Given the description of an element on the screen output the (x, y) to click on. 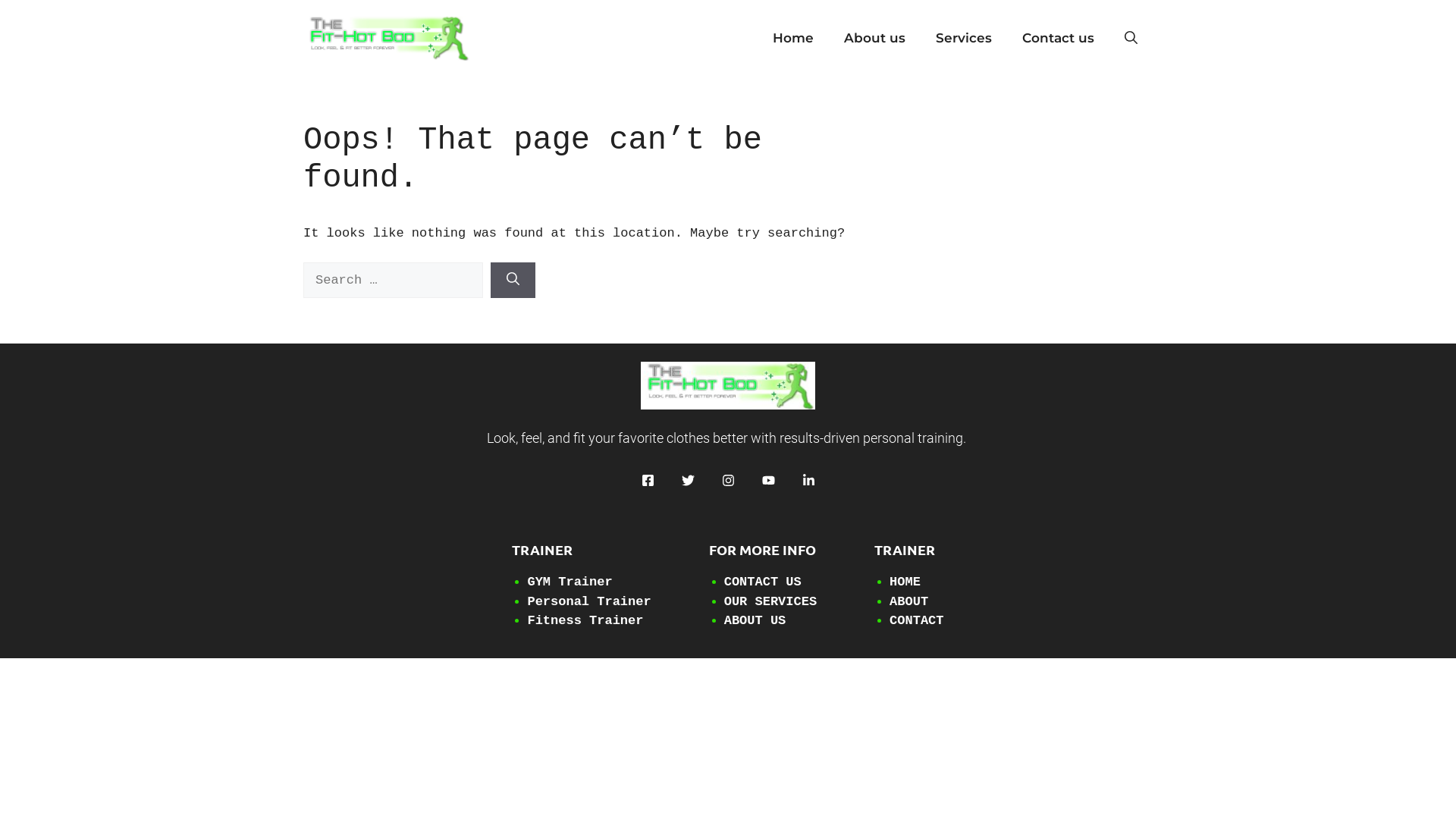
Search for: Element type: hover (393, 280)
GYM Trainer Element type: text (569, 581)
About us Element type: text (874, 37)
OUR SERVICES Element type: text (770, 601)
Contact us Element type: text (1058, 37)
ABOUT Element type: text (908, 601)
Services Element type: text (963, 37)
Personal Trainer Element type: text (588, 601)
HOME Element type: text (904, 581)
Fitness Trainer Element type: text (585, 620)
CONTACT US Element type: text (762, 581)
Home Element type: text (792, 37)
CONTACT Element type: text (916, 620)
ABOUT US Element type: text (755, 620)
